Given the description of an element on the screen output the (x, y) to click on. 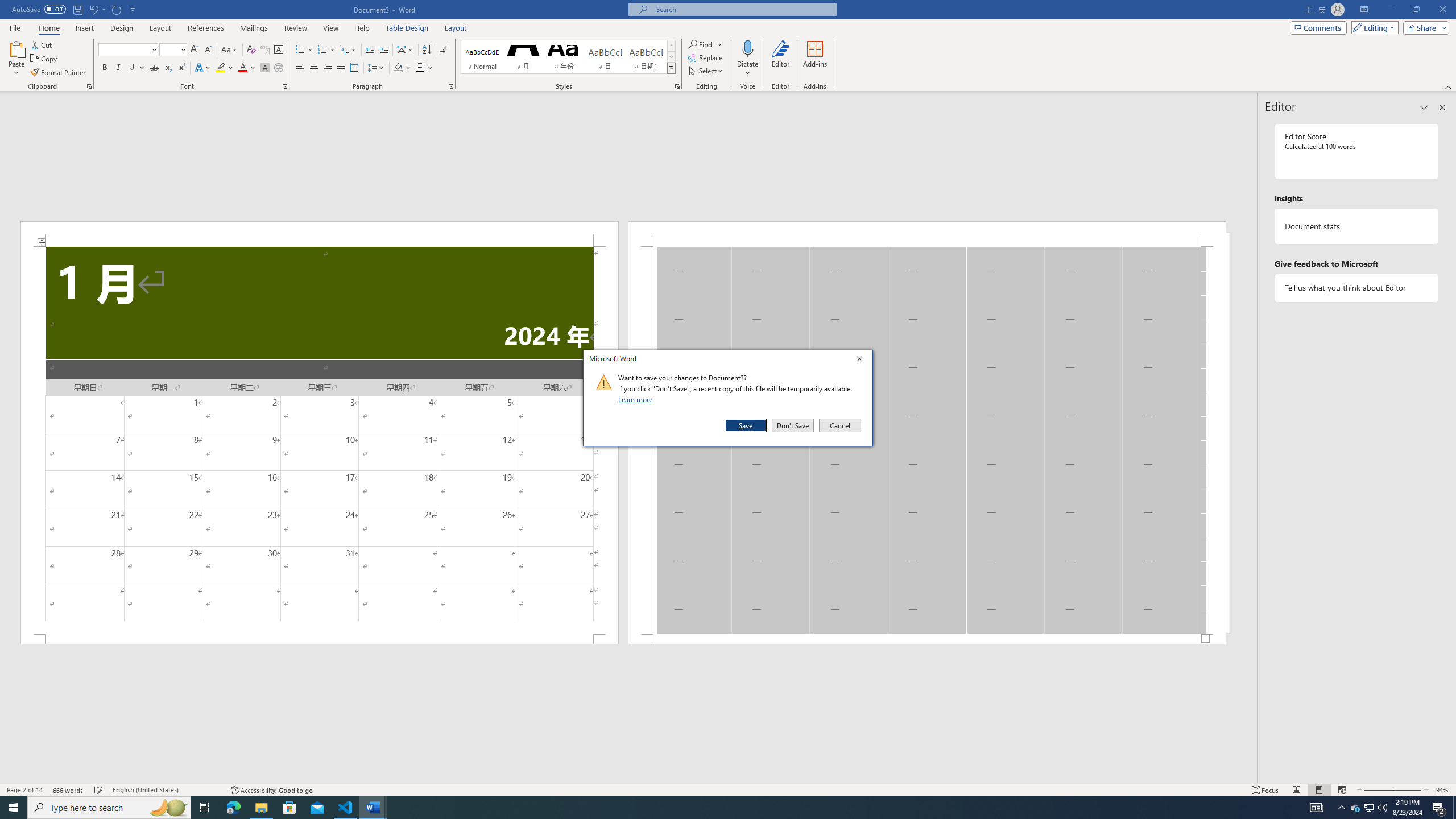
Shading RGB(0, 0, 0) (397, 67)
Styles... (676, 85)
Align Left (300, 67)
Font Color RGB(255, 0, 0) (241, 67)
AutomationID: QuickStylesGallery (568, 56)
Microsoft Store (289, 807)
Paragraph... (450, 85)
AutomationID: 4105 (1316, 807)
Replace... (705, 56)
